Given the description of an element on the screen output the (x, y) to click on. 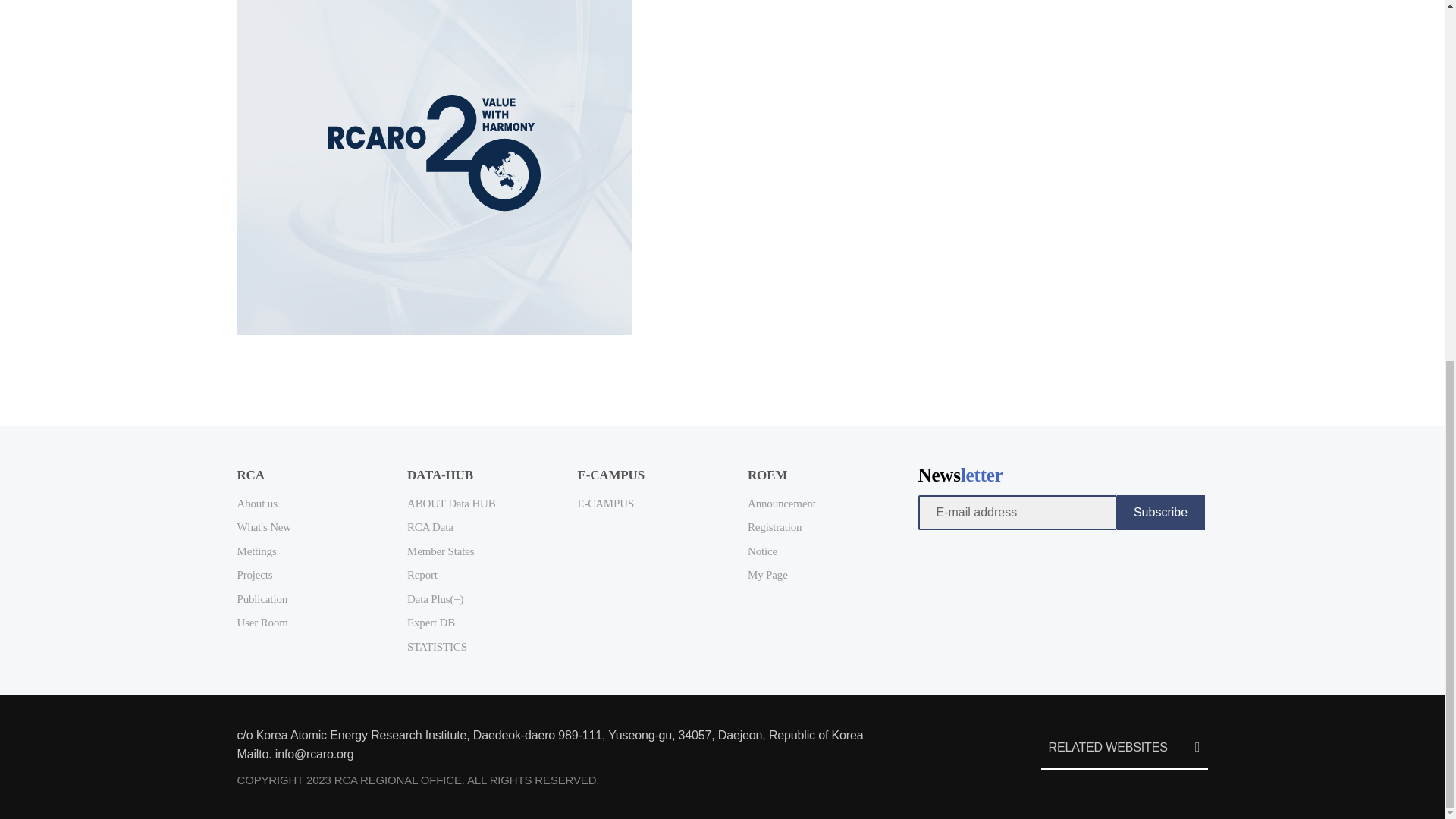
Projects (253, 574)
What's New (263, 526)
Report (422, 574)
RCA Data (429, 526)
Publication (260, 598)
Mettings (255, 551)
ABOUT Data HUB (451, 503)
Member States (440, 551)
User Room (260, 622)
About us (255, 503)
